Given the description of an element on the screen output the (x, y) to click on. 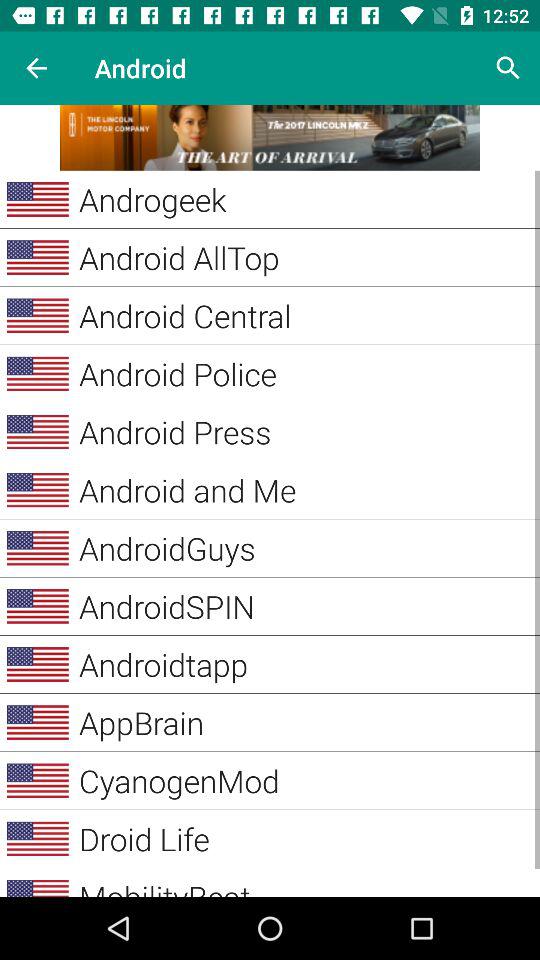
advertisement (270, 137)
